Given the description of an element on the screen output the (x, y) to click on. 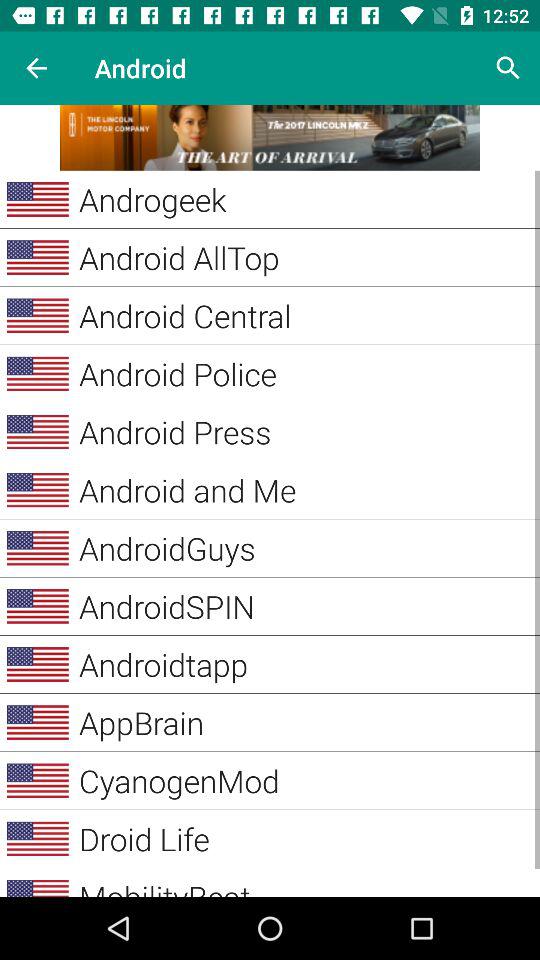
advertisement (270, 137)
